Given the description of an element on the screen output the (x, y) to click on. 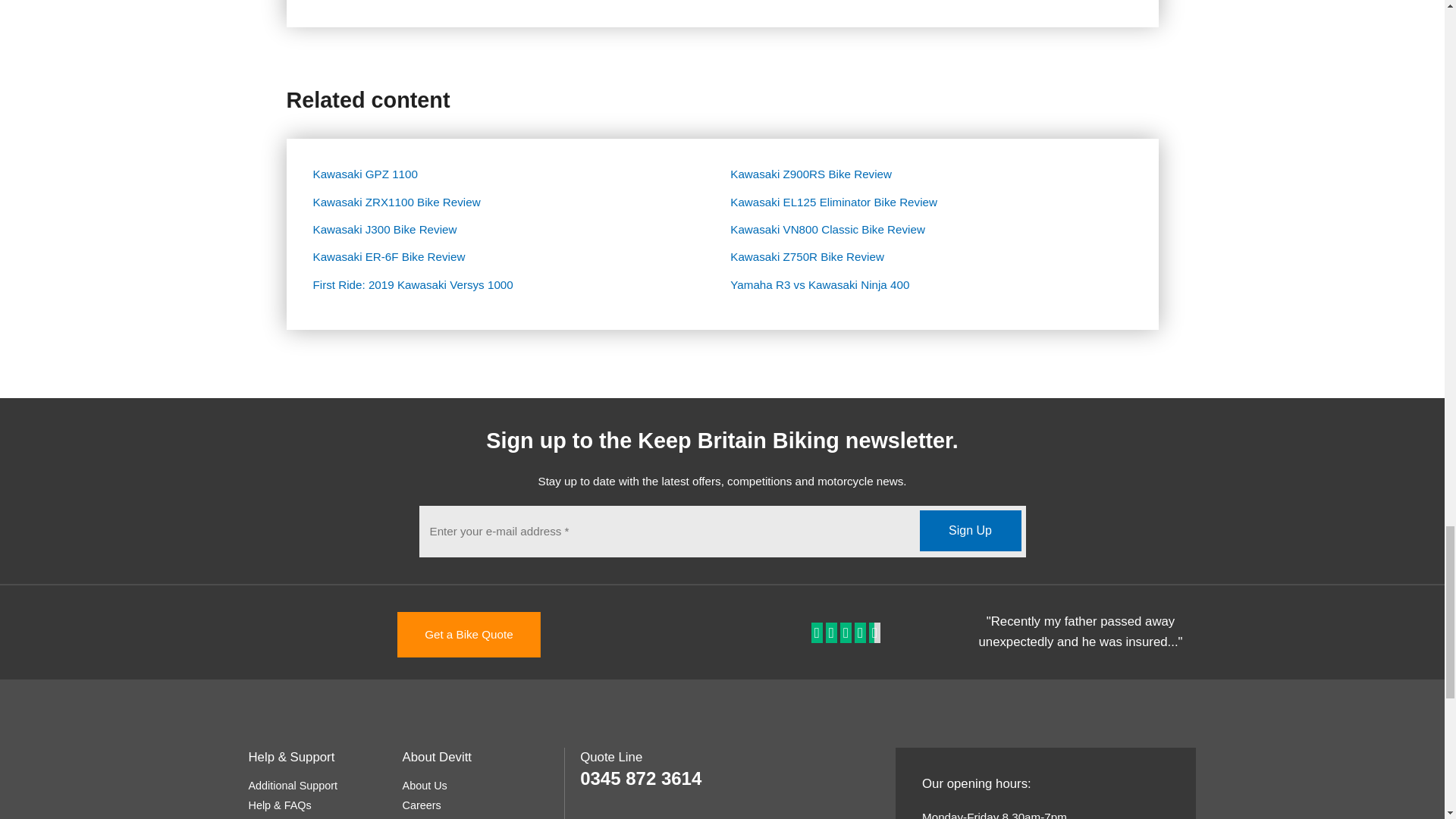
Rated 4.5 stars out of 5 (846, 633)
Return to Devitt Insurance homepage (286, 631)
Sign Up (969, 530)
